Given the description of an element on the screen output the (x, y) to click on. 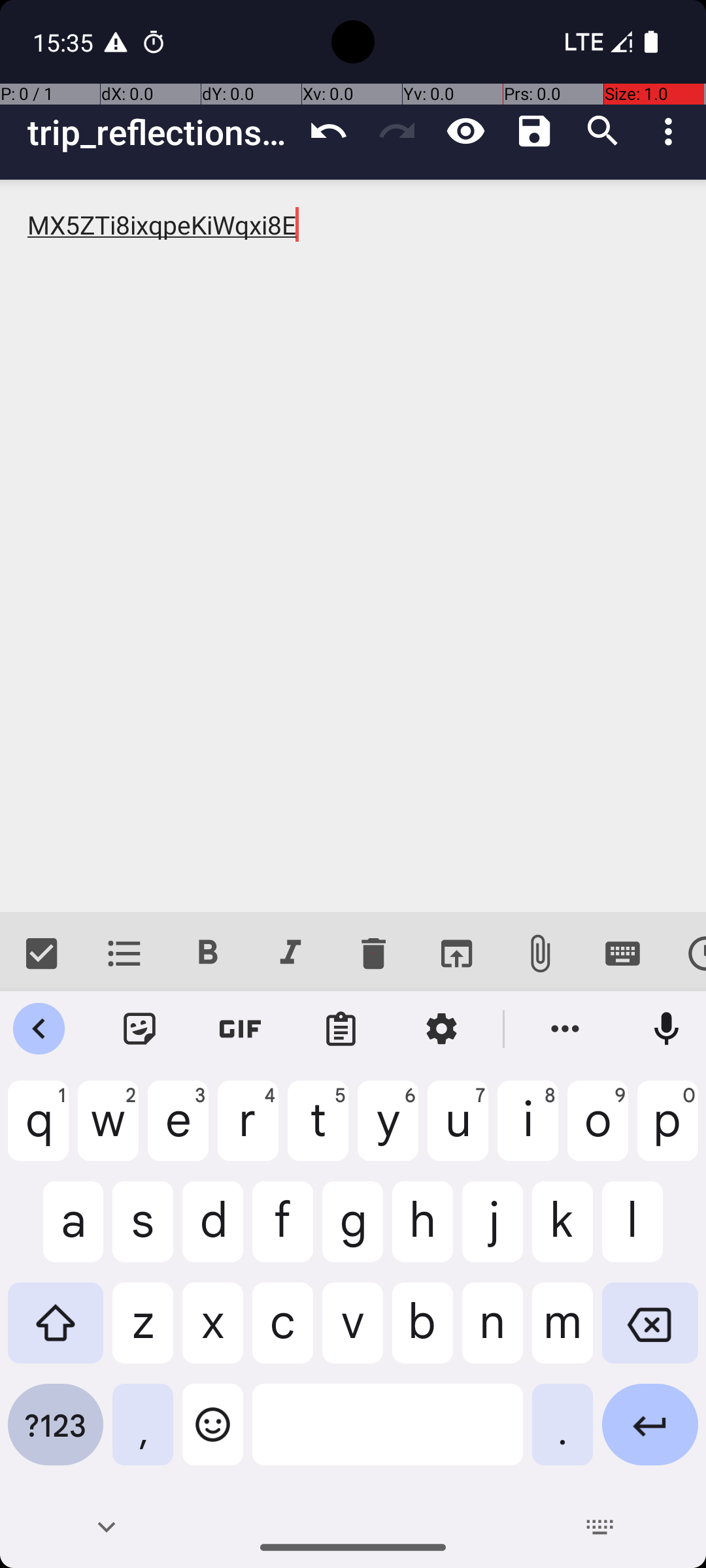
trip_reflections_recent_2023_07_04 Element type: android.widget.TextView (160, 131)
MX5ZTi8ixqpeKiWqxi8E Element type: android.widget.EditText (353, 545)
